Given the description of an element on the screen output the (x, y) to click on. 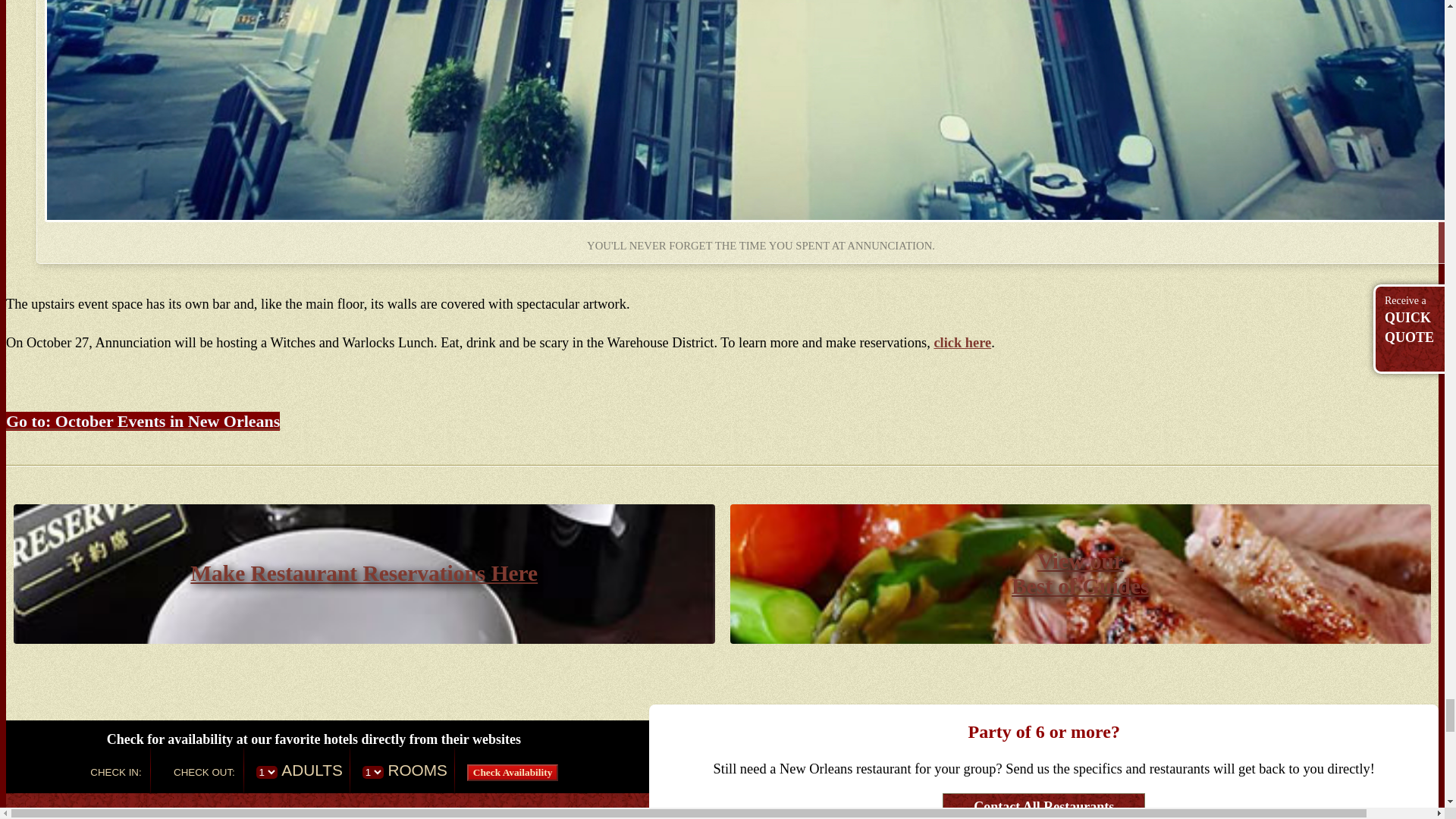
Make Restaurant Reservations Here (363, 573)
click here (962, 342)
Party of 6 or more? (1080, 573)
Contact All Restaurants (1043, 731)
Go to: October Events in New Orleans (1043, 806)
